Given the description of an element on the screen output the (x, y) to click on. 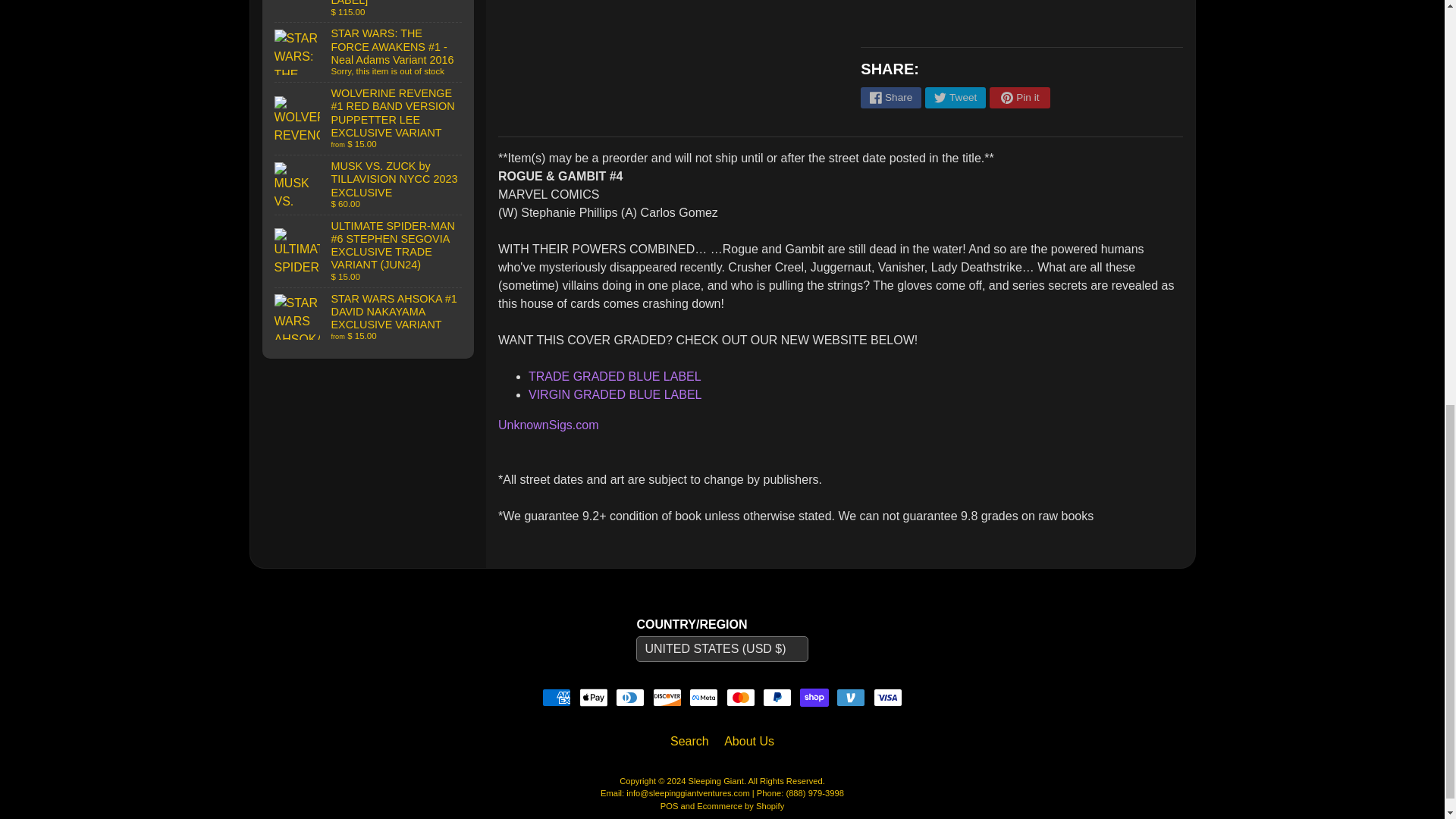
American Express (555, 697)
Venmo (849, 697)
Visa (887, 697)
Apple Pay (593, 697)
Meta Pay (702, 697)
Diners Club (630, 697)
MUSK VS. ZUCK by TILLAVISION NYCC 2023 EXCLUSIVE (369, 184)
Mastercard (740, 697)
PayPal (777, 697)
Discover (666, 697)
